Given the description of an element on the screen output the (x, y) to click on. 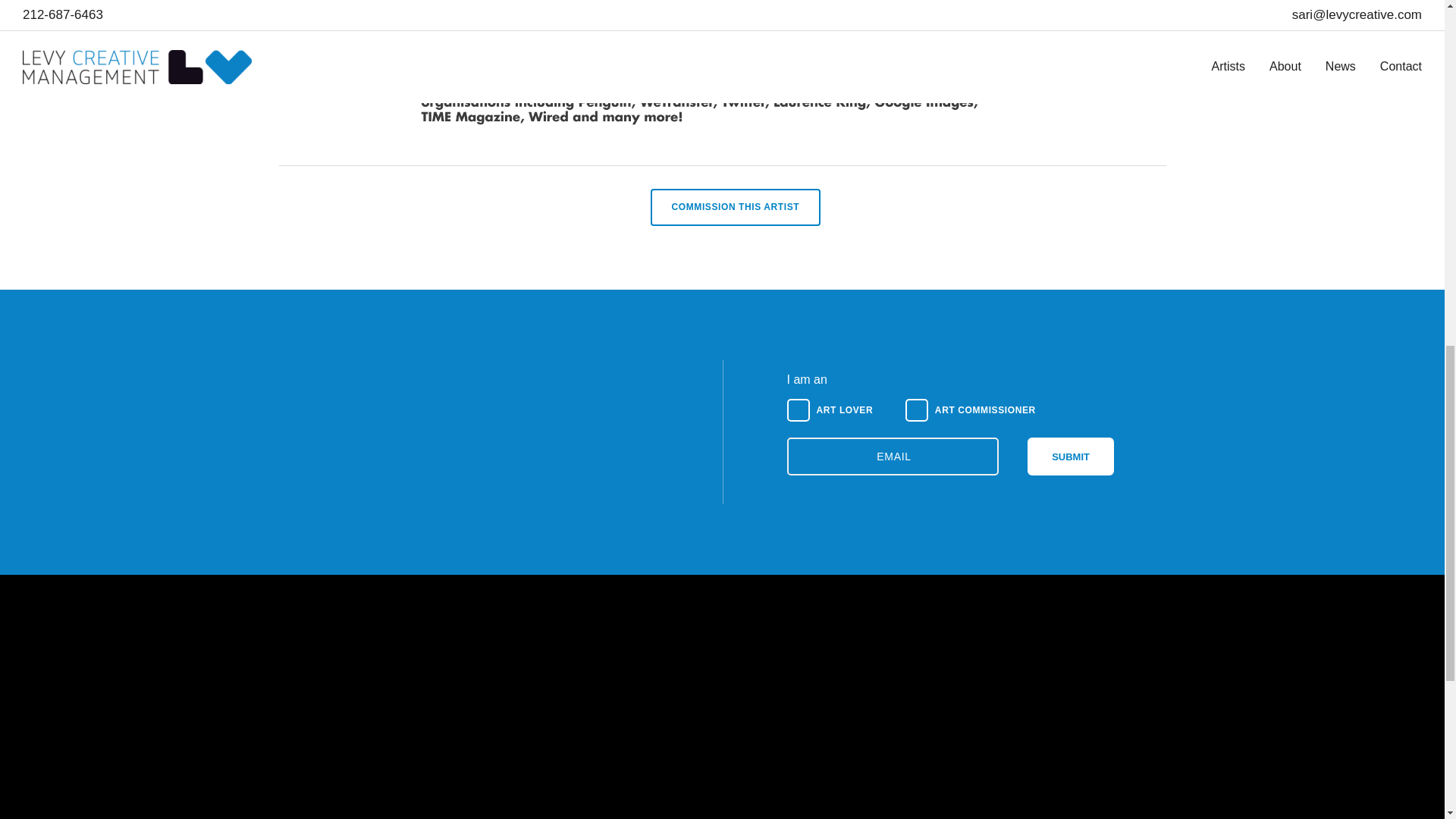
Submit (1070, 456)
Submit (1070, 456)
COMMISSION THIS ARTIST (735, 207)
